Given the description of an element on the screen output the (x, y) to click on. 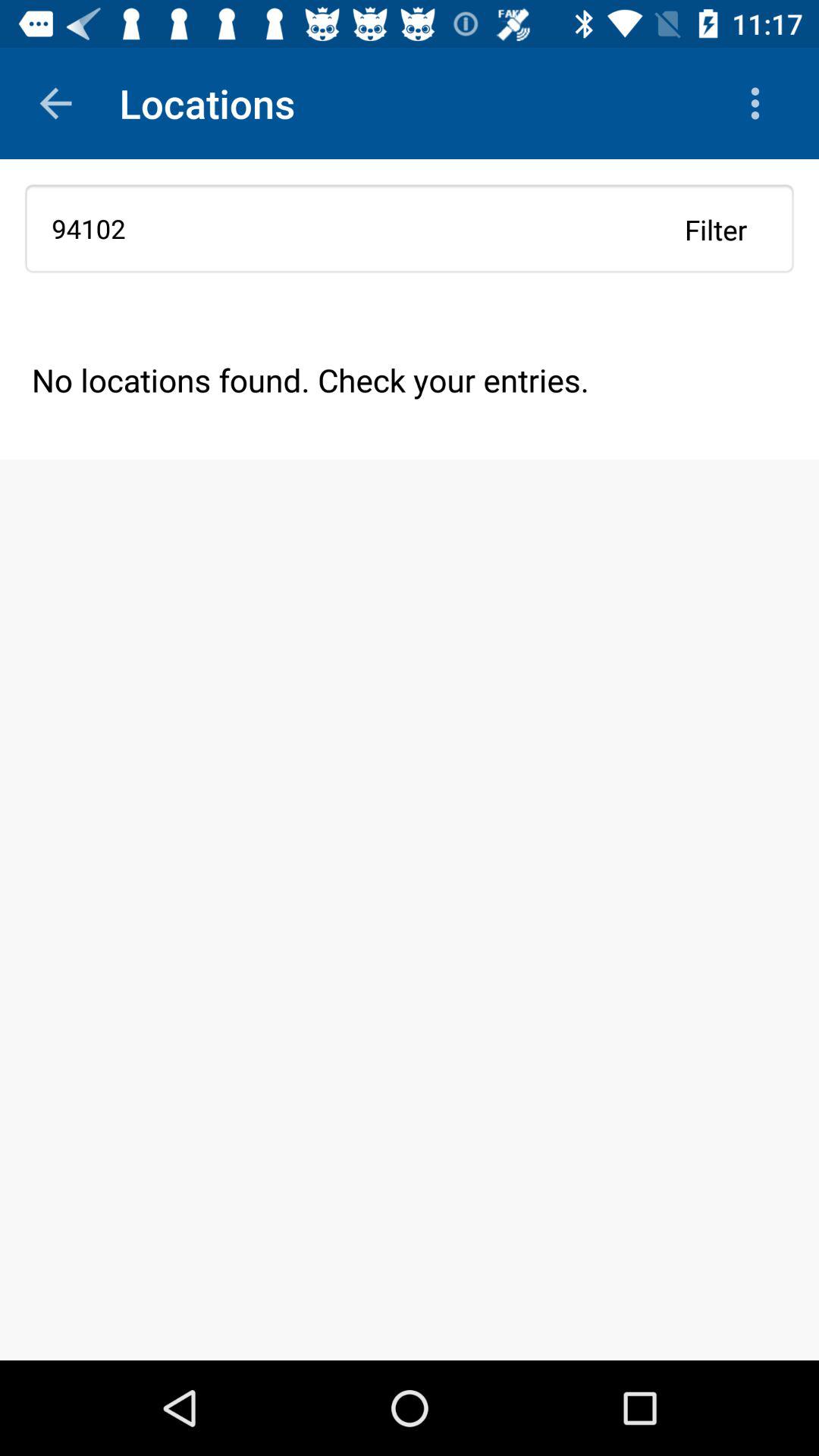
flip to the filter item (715, 229)
